Given the description of an element on the screen output the (x, y) to click on. 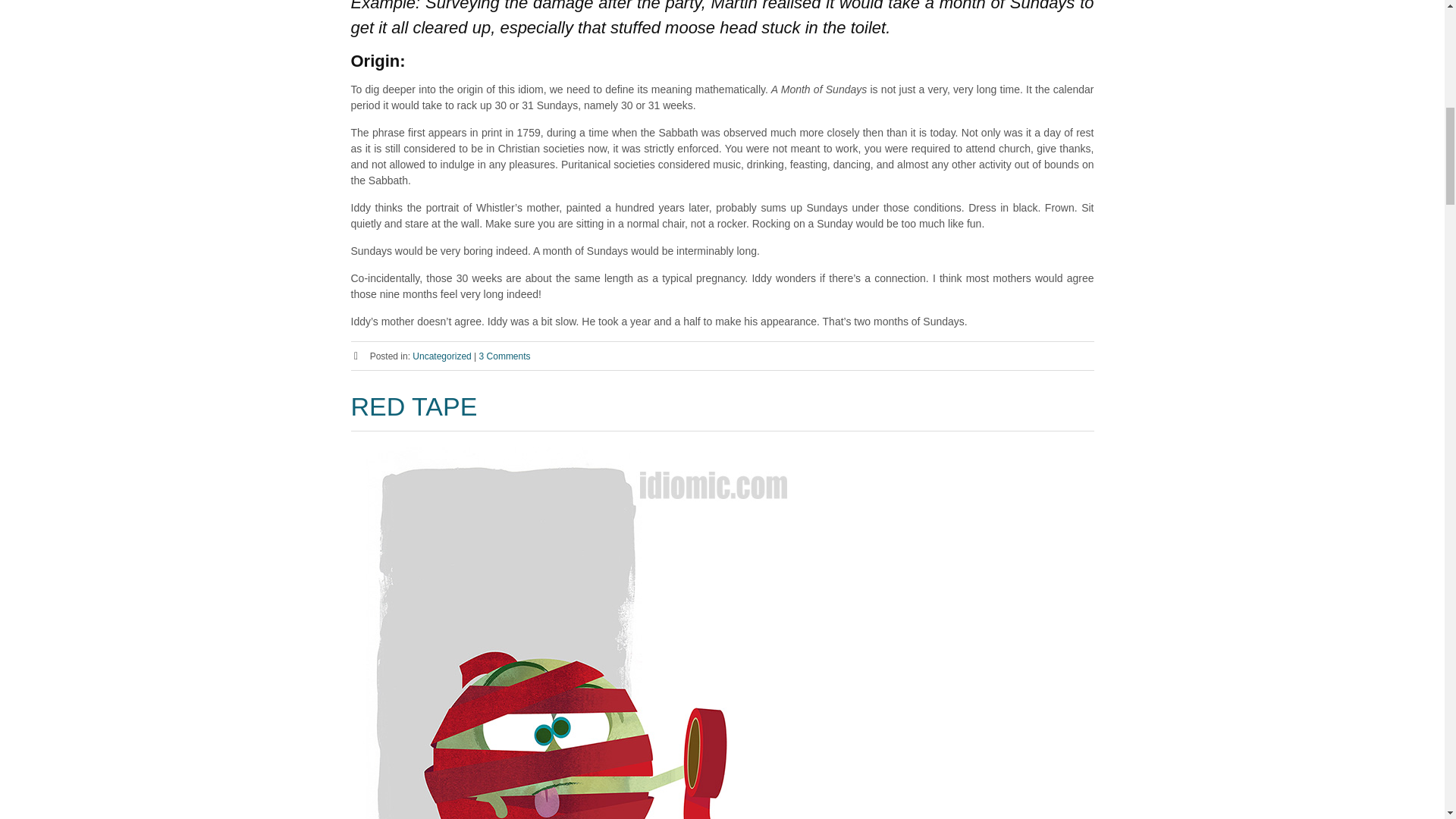
RED TAPE (413, 406)
3 Comments (505, 356)
Uncategorized (441, 356)
